Given the description of an element on the screen output the (x, y) to click on. 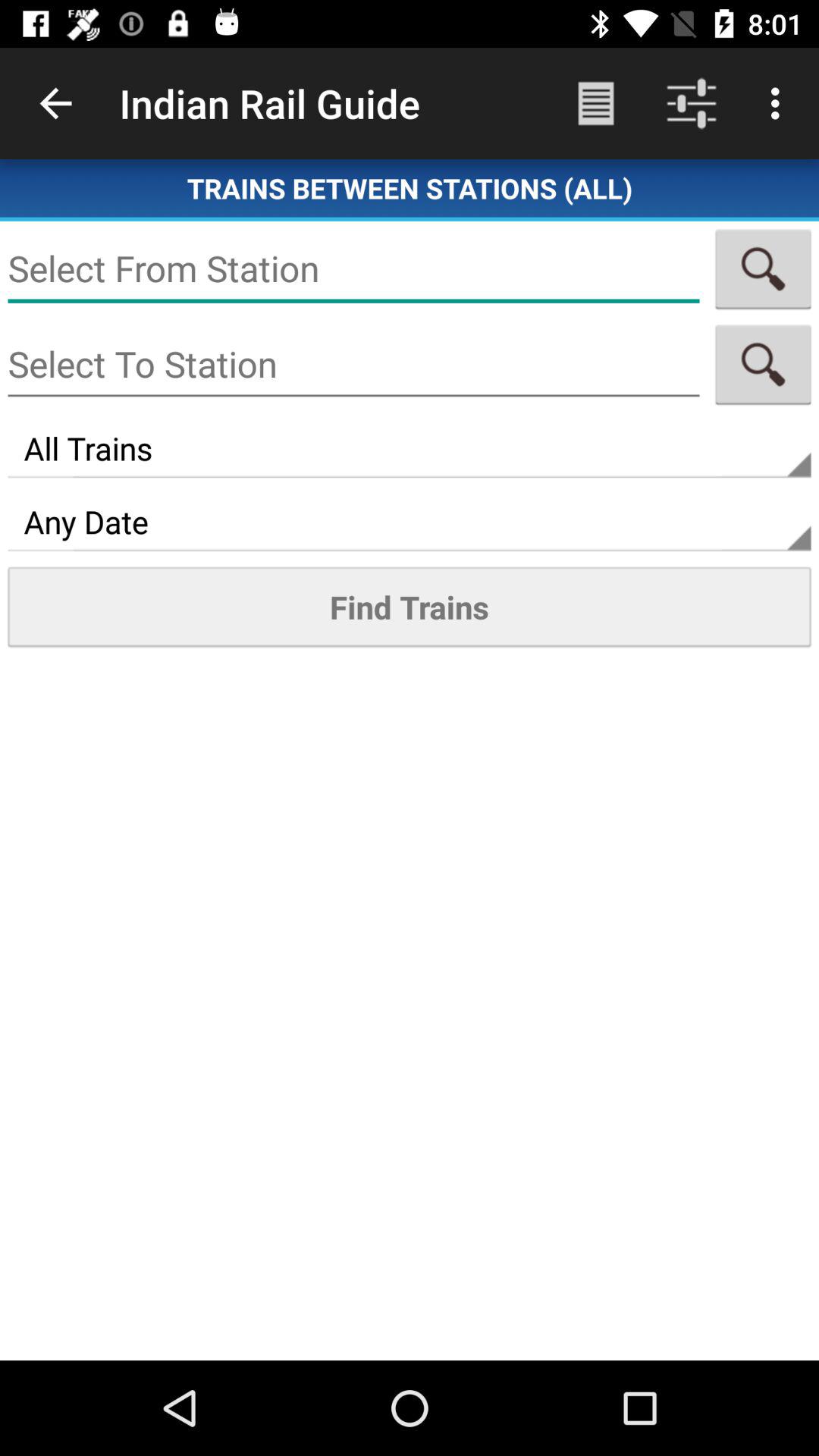
text box for from station (353, 268)
